Given the description of an element on the screen output the (x, y) to click on. 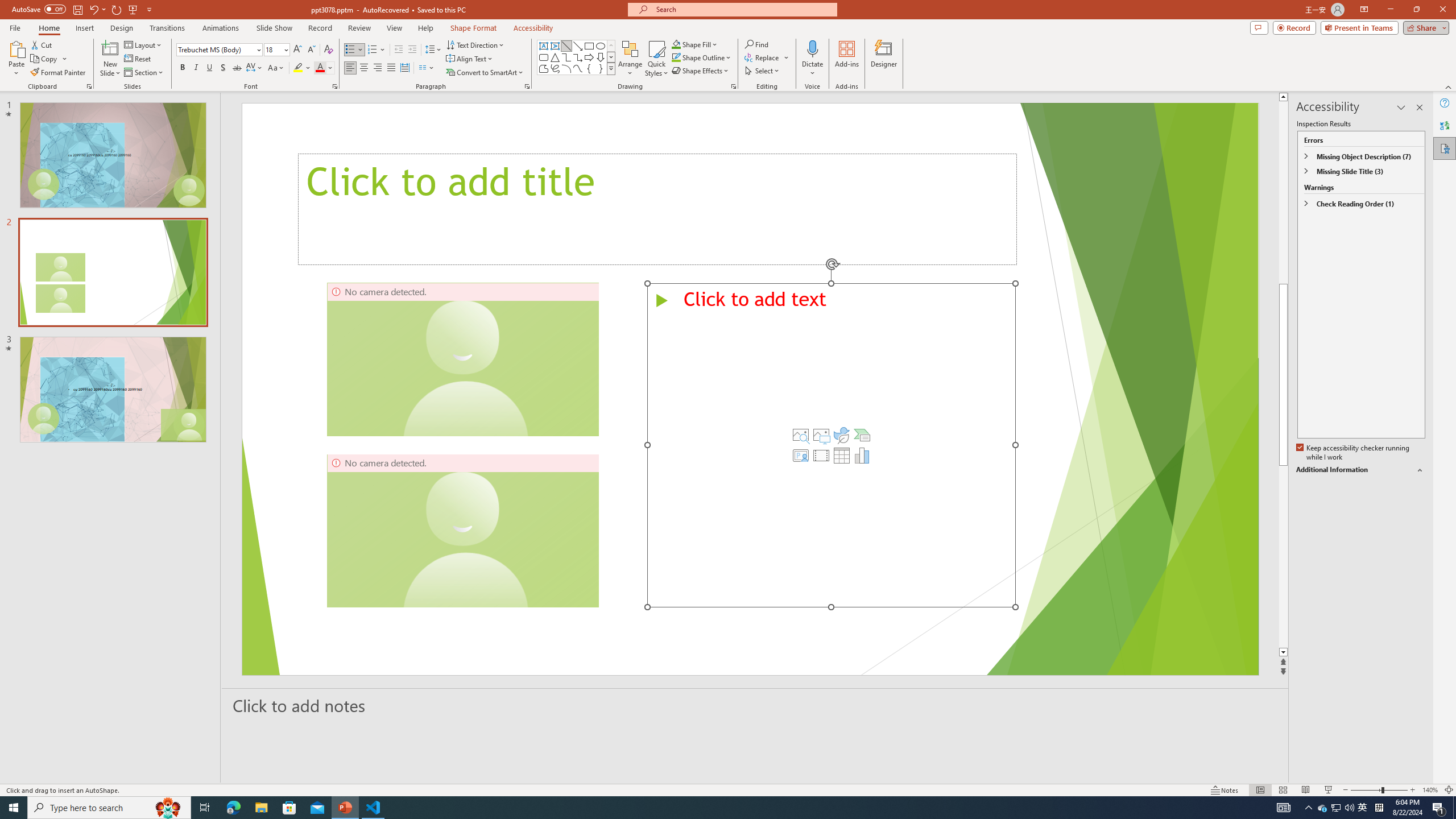
Content Placeholder (830, 445)
